Given the description of an element on the screen output the (x, y) to click on. 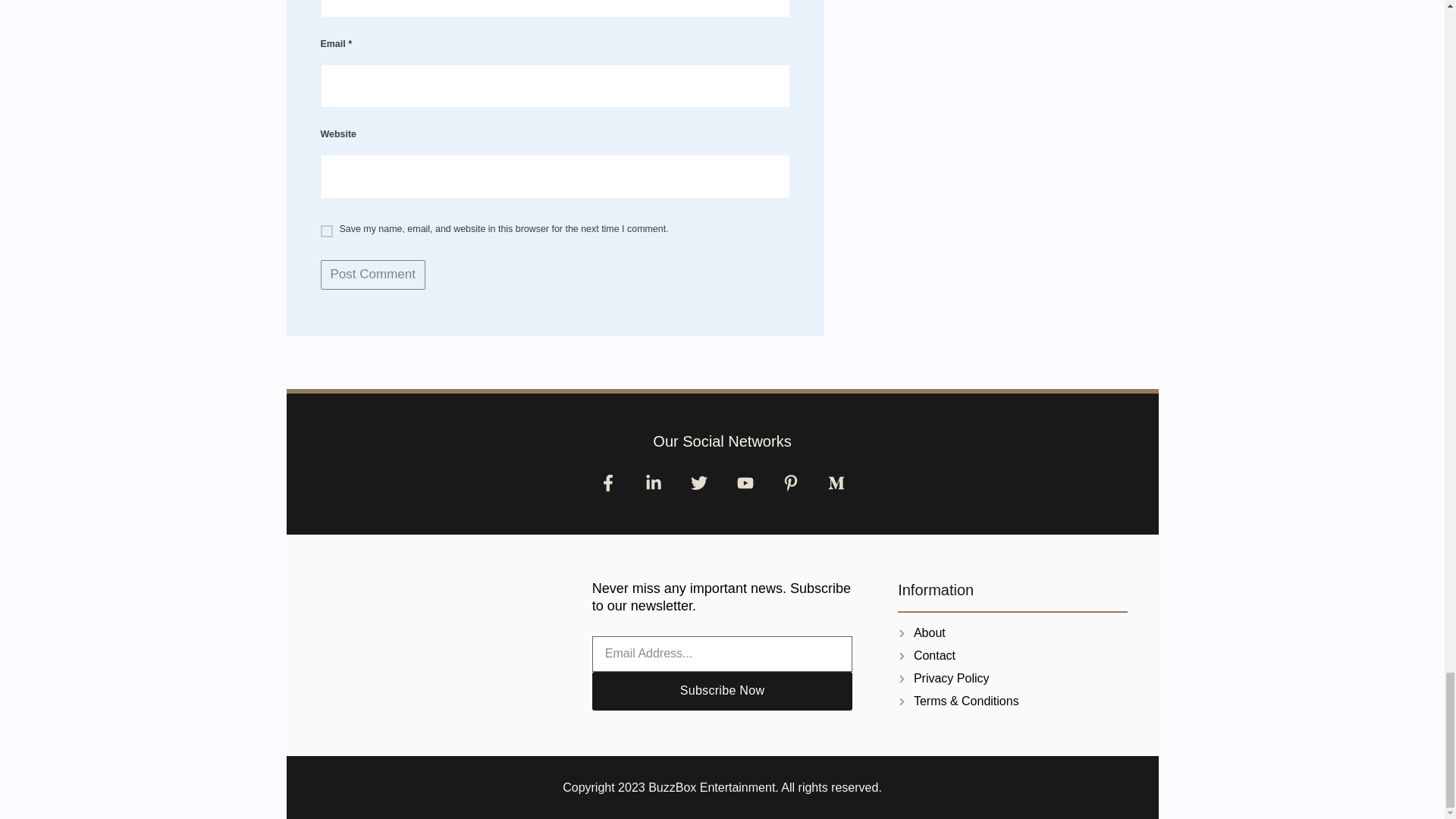
Post Comment (372, 274)
